Given the description of an element on the screen output the (x, y) to click on. 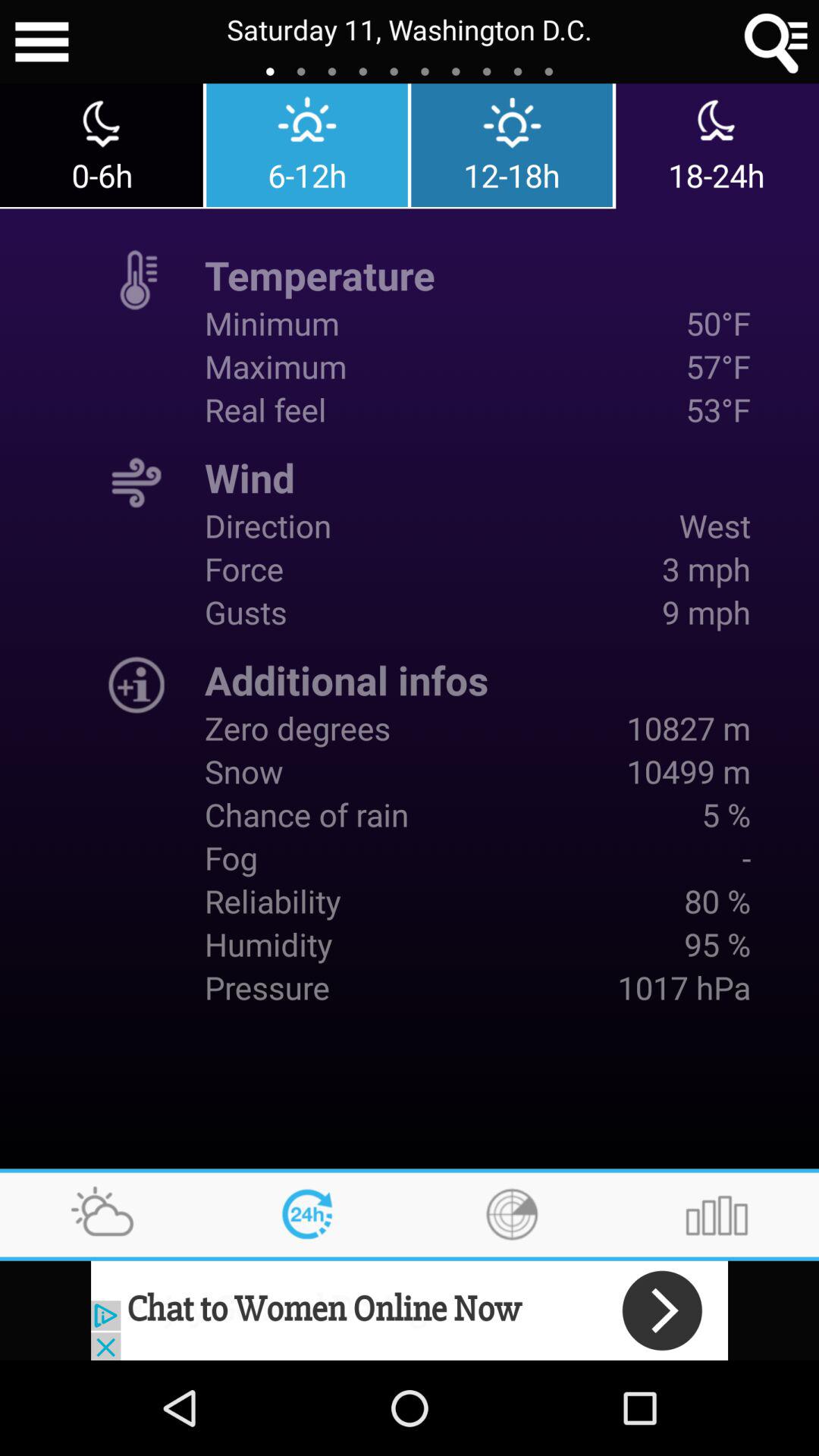
can search what we dont know (777, 41)
